Given the description of an element on the screen output the (x, y) to click on. 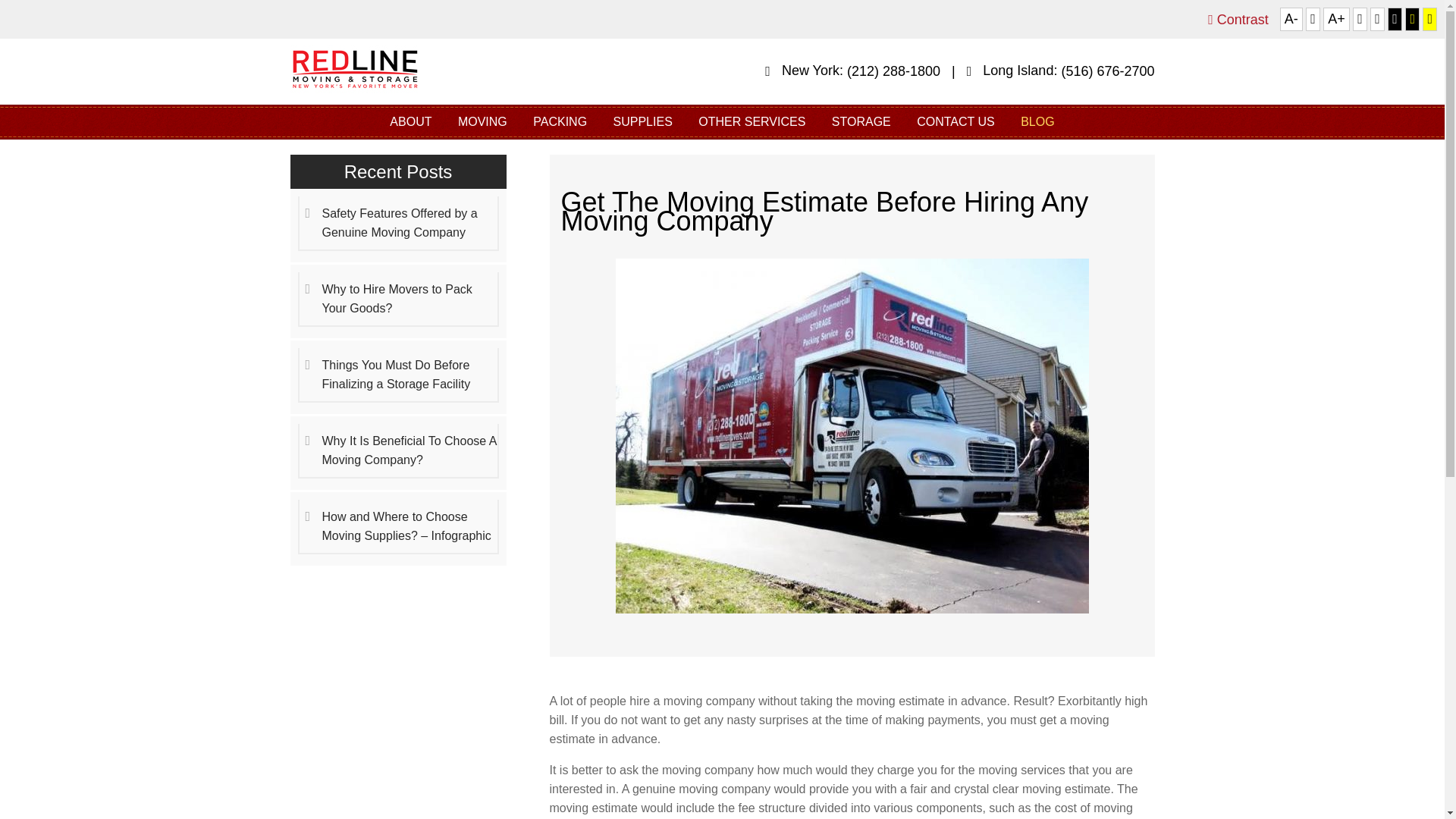
OTHER SERVICES (751, 121)
Permanent link to Why to Hire Movers to Pack Your Goods? (397, 298)
MOVING (482, 121)
ABOUT (410, 121)
STORAGE (861, 121)
CONTACT US (955, 121)
A- (1291, 19)
New York phone number (893, 71)
